Given the description of an element on the screen output the (x, y) to click on. 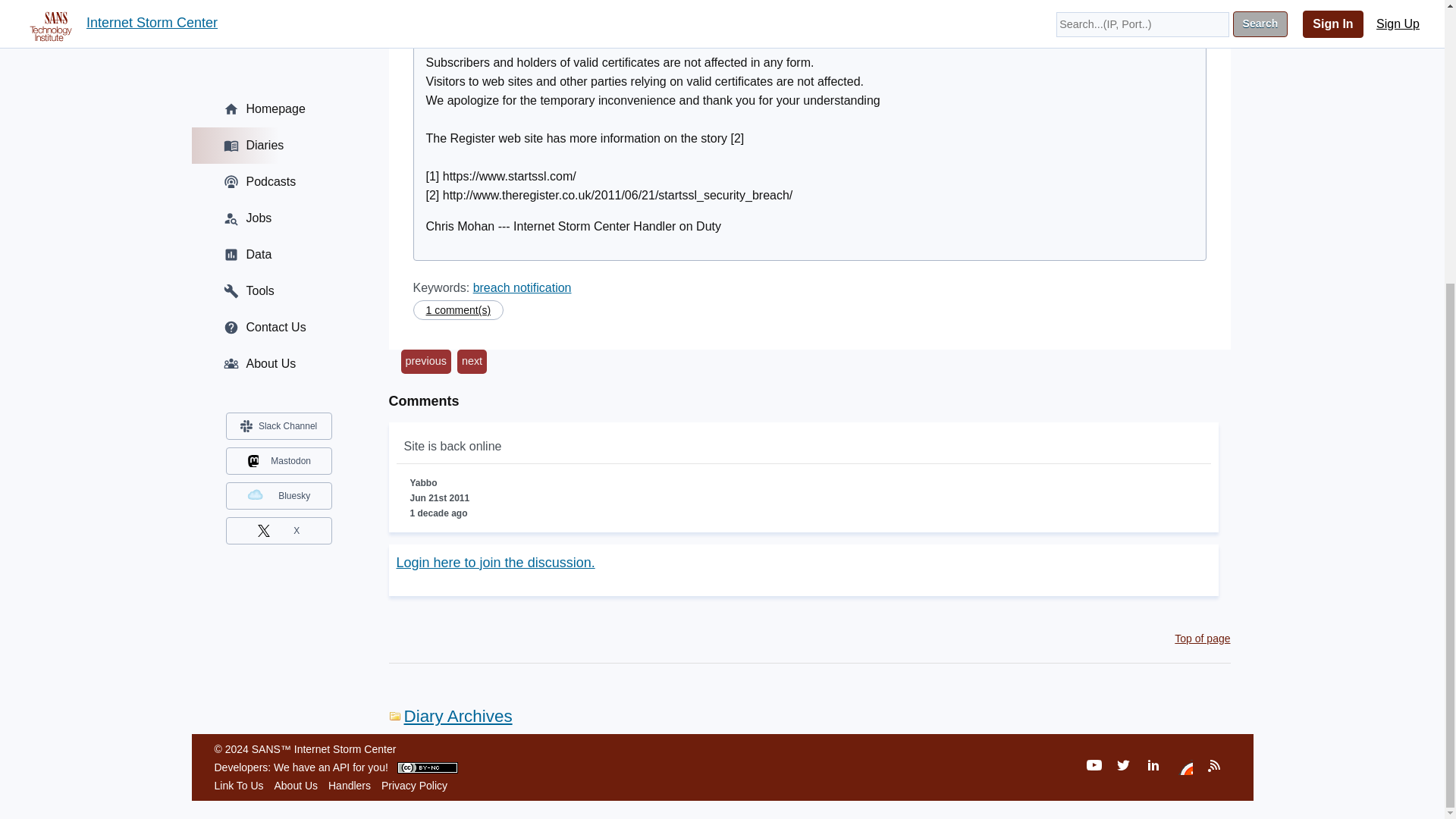
next (471, 361)
Diary Archives (450, 715)
Top of page (1202, 638)
previous (424, 361)
Login here to join the discussion. (495, 562)
breach notification (522, 287)
